Given the description of an element on the screen output the (x, y) to click on. 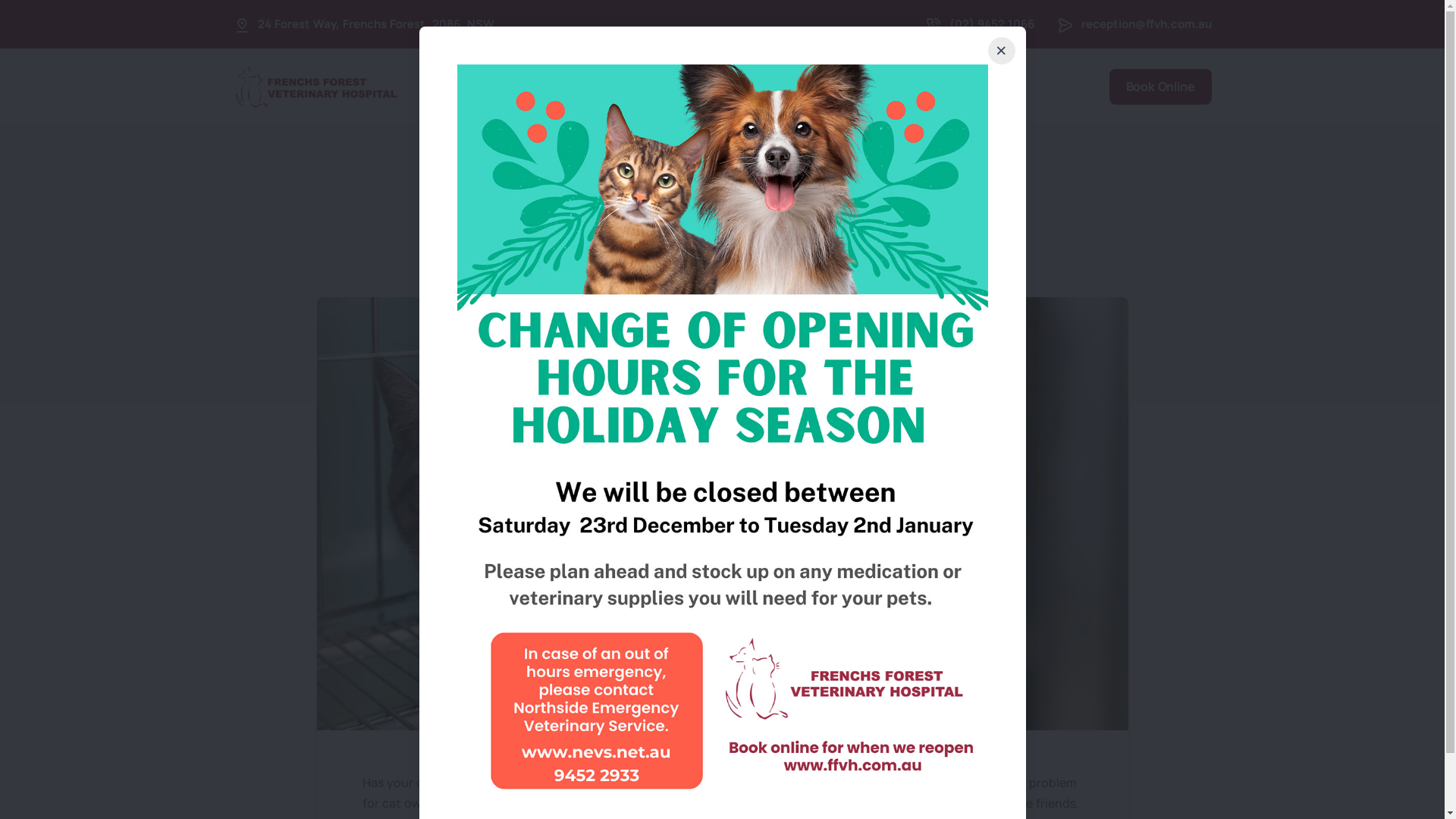
Book Online Element type: text (1160, 86)
Contact Element type: text (943, 84)
reception@ffvh.com.au Element type: text (1146, 23)
About Element type: text (494, 84)
Pet Advice Element type: text (858, 84)
Emergency Element type: text (665, 84)
(02) 9452 1066 Element type: text (991, 23)
Services Element type: text (572, 86)
Best for Pet Element type: text (762, 84)
24 Forest Way, Frenchs Forest, 2086, NSW Element type: text (375, 23)
